Given the description of an element on the screen output the (x, y) to click on. 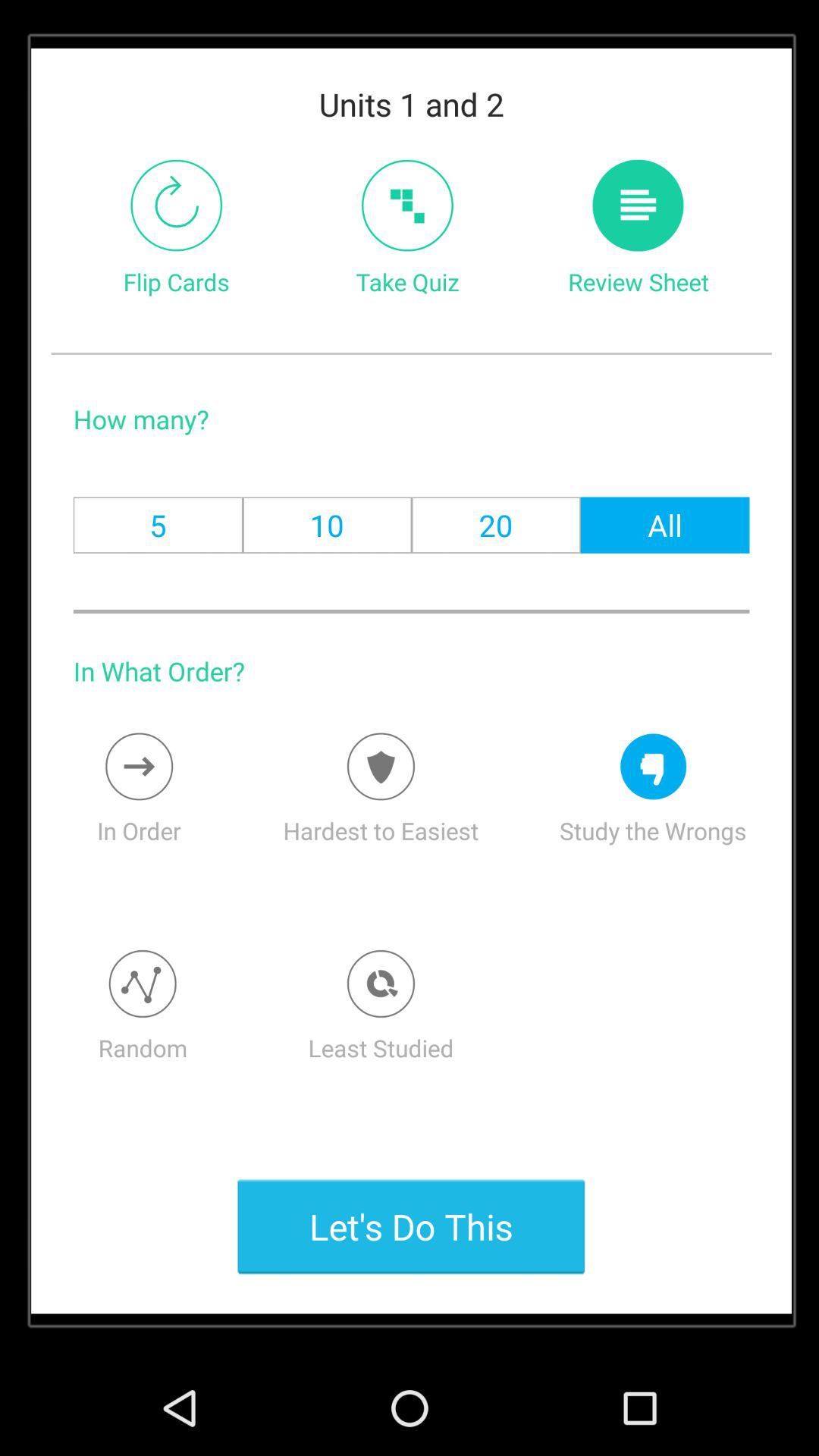
open in order study questions (139, 766)
